Given the description of an element on the screen output the (x, y) to click on. 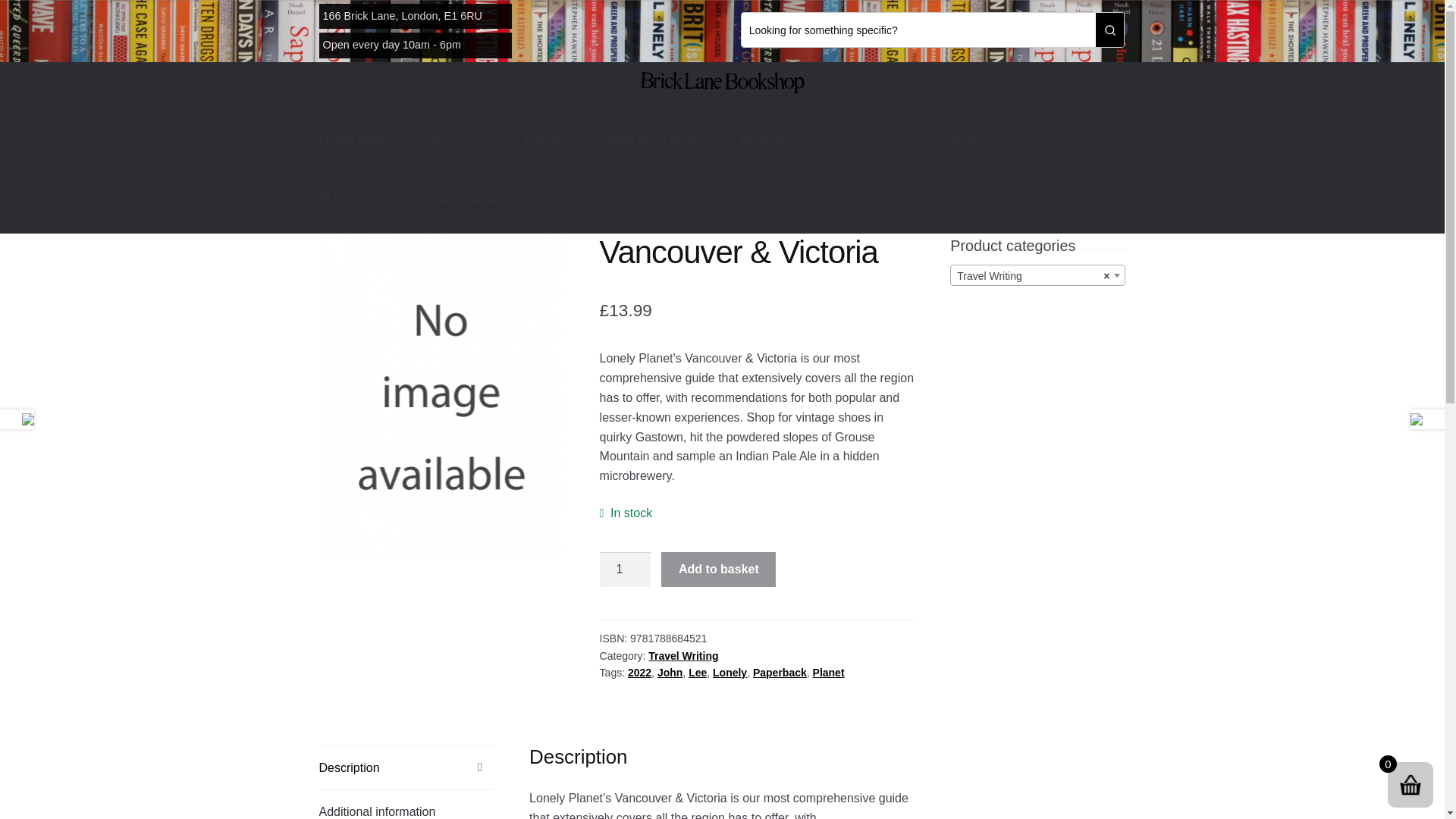
About Us (462, 140)
Looking for something specific? (918, 29)
Events (550, 140)
Online Shop (360, 140)
Podcast (771, 140)
Go (1110, 29)
Travel Writing (1037, 275)
Short Story Prize (658, 140)
Looking for something specific? (918, 29)
1 (624, 569)
View your shopping basket (1037, 140)
